Given the description of an element on the screen output the (x, y) to click on. 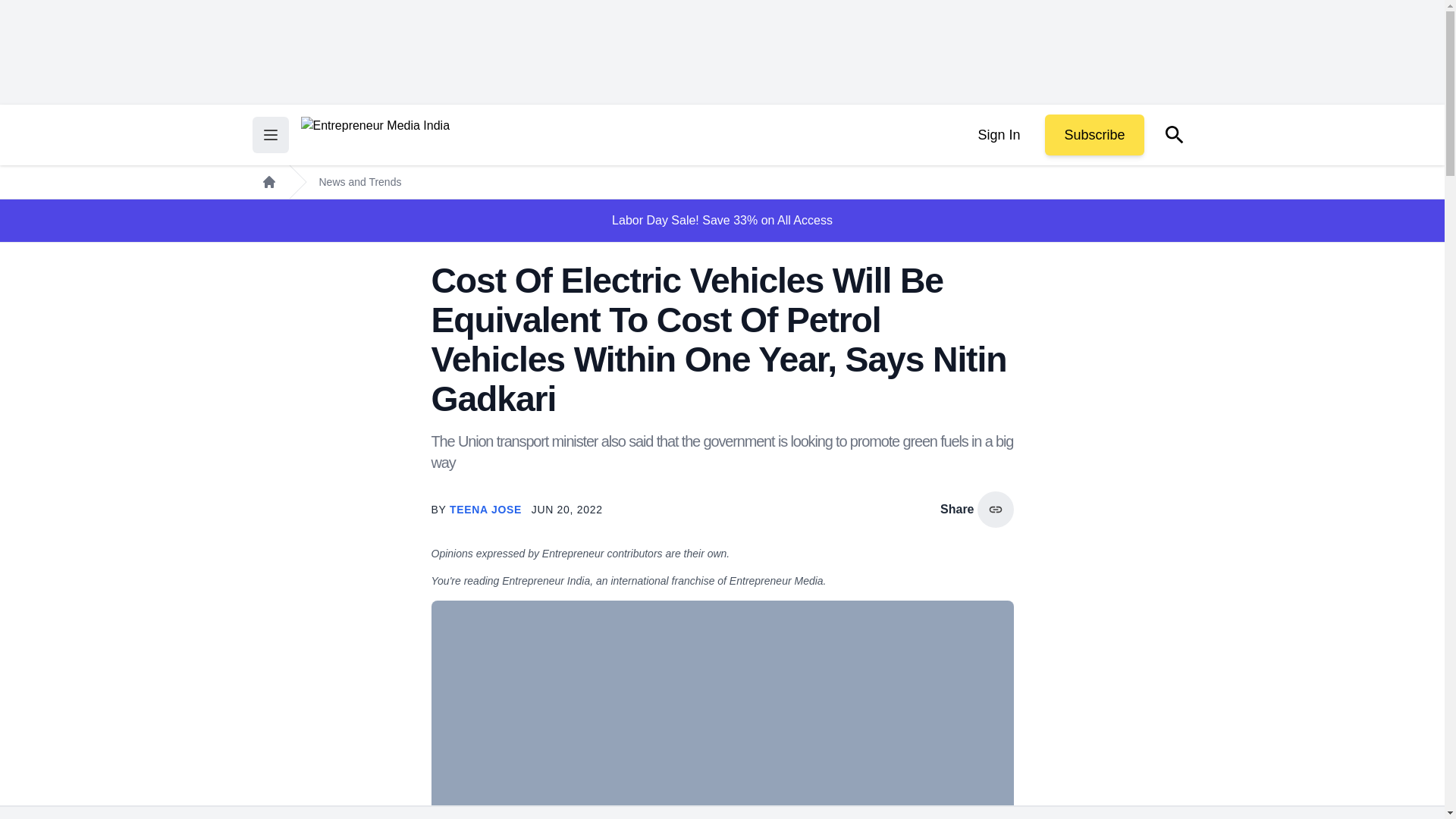
Sign In (998, 134)
copy (994, 509)
Subscribe (1093, 134)
Return to the home page (374, 135)
